Given the description of an element on the screen output the (x, y) to click on. 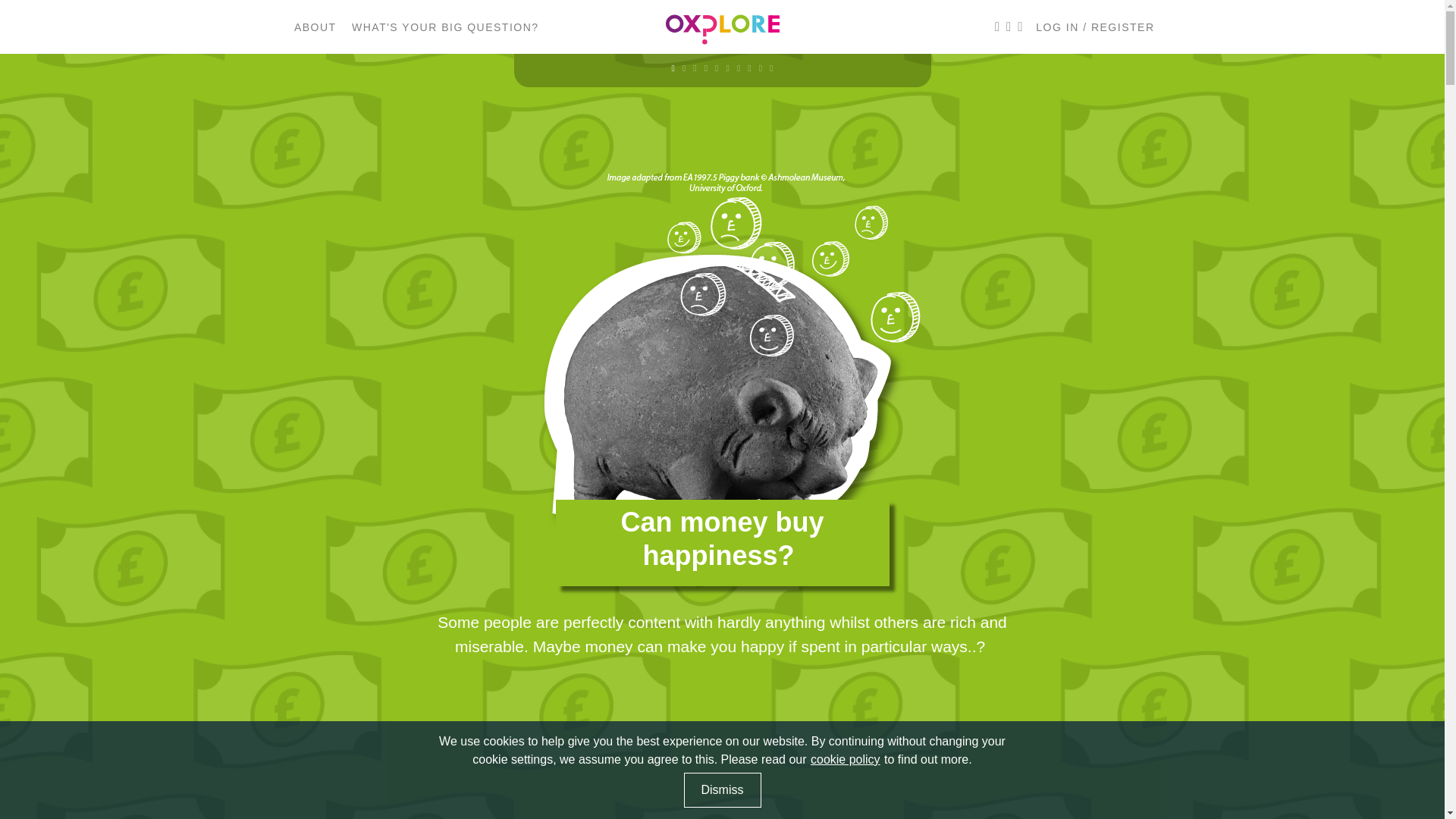
cookie policy (844, 759)
WHAT'S YOUR BIG QUESTION? (445, 27)
ABOUT (315, 27)
